Given the description of an element on the screen output the (x, y) to click on. 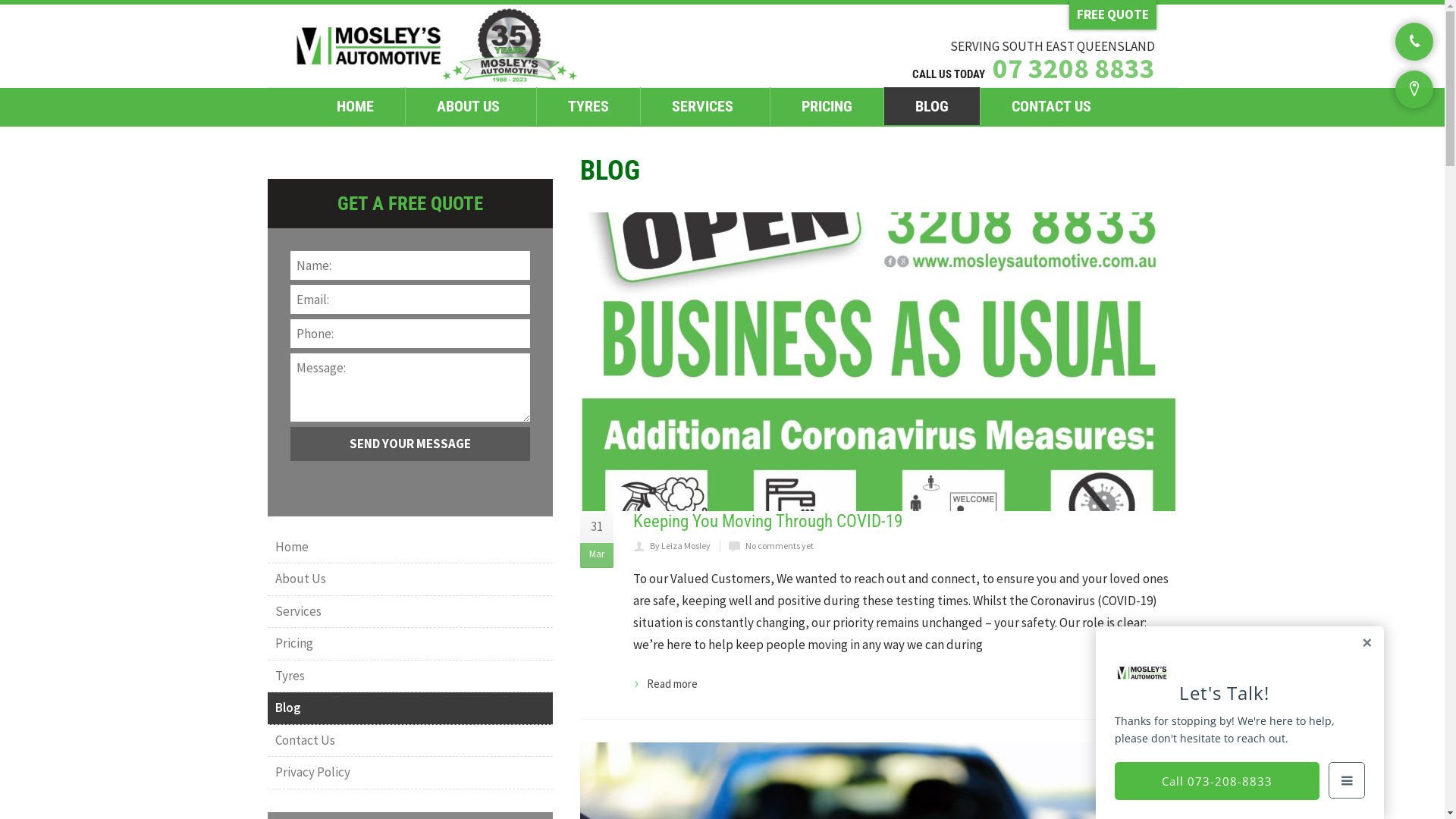
HOME Element type: text (354, 106)
07 3208 8833 Element type: text (1072, 67)
Call 073-208-8833 Element type: text (1216, 781)
Privacy Policy Element type: text (409, 772)
Pricing Element type: text (409, 643)
ABOUT US Element type: text (470, 106)
BLOG Element type: text (930, 106)
No comments yet Element type: text (779, 545)
TYRES Element type: text (587, 106)
Send Your Message Element type: text (410, 443)
PRICING Element type: text (825, 106)
Keeping You Moving Through COVID-19 Element type: text (767, 521)
Home Element type: text (409, 547)
SERVICES Element type: text (704, 106)
--> Element type: text (433, 44)
Contact Us Element type: text (409, 740)
Tyres Element type: text (409, 676)
Read more Element type: text (665, 684)
Services Element type: text (409, 612)
By Leiza Mosley Element type: text (679, 545)
Keeping You Moving Through COVID-19 Element type: hover (878, 361)
Blog Element type: text (409, 708)
About Us Element type: text (409, 579)
CONTACT US Element type: text (1053, 106)
